Given the description of an element on the screen output the (x, y) to click on. 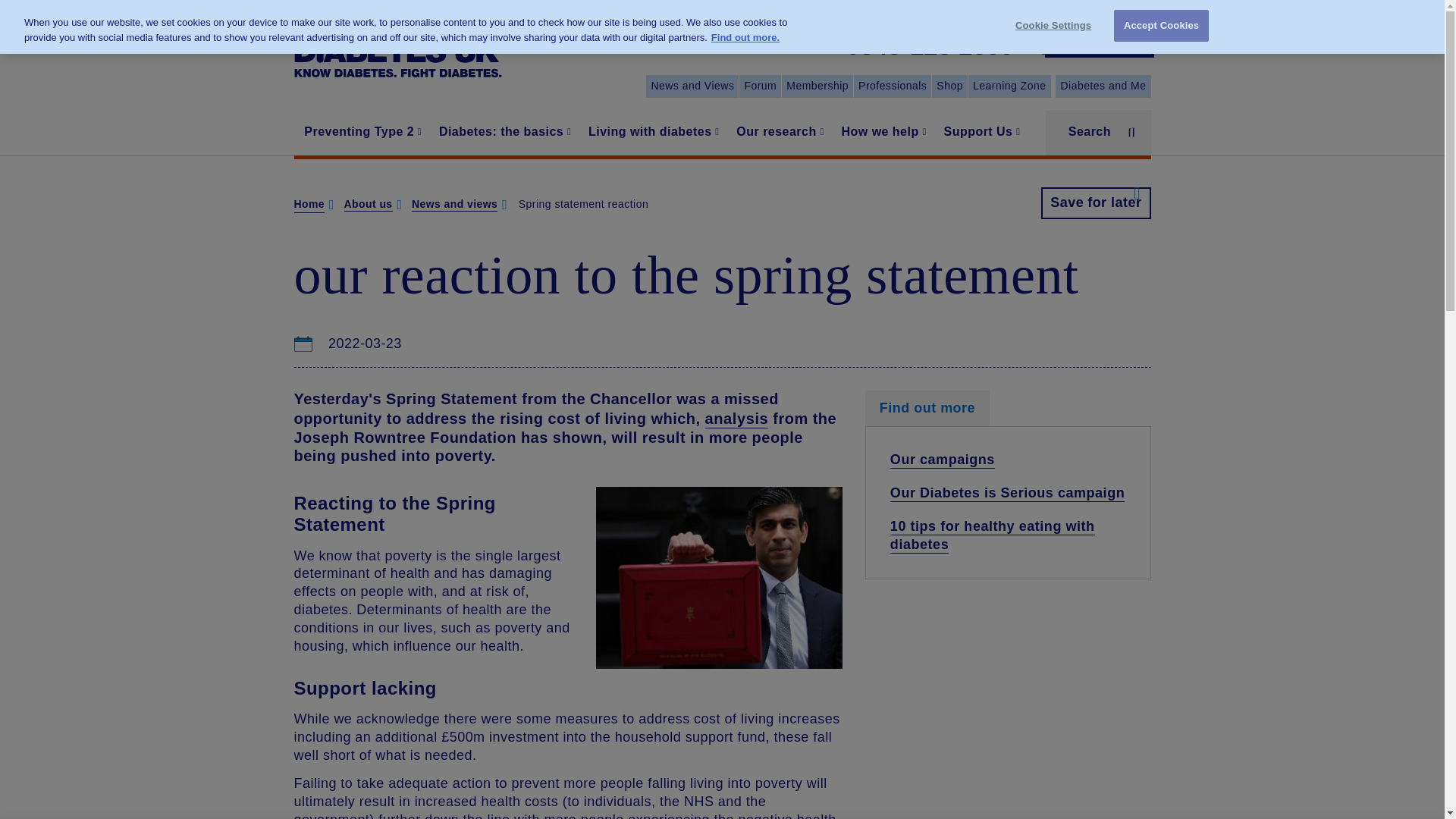
Shop (949, 86)
Donate (1096, 37)
0345123 2399 (929, 46)
Diabetes and Me (1102, 86)
Professionals (892, 86)
Diabetes: the basics (503, 132)
Learning Zone (1009, 86)
Forum (759, 86)
News and Views (692, 86)
Preventing Type 2 (361, 132)
Home (398, 47)
Membership (817, 86)
